Given the description of an element on the screen output the (x, y) to click on. 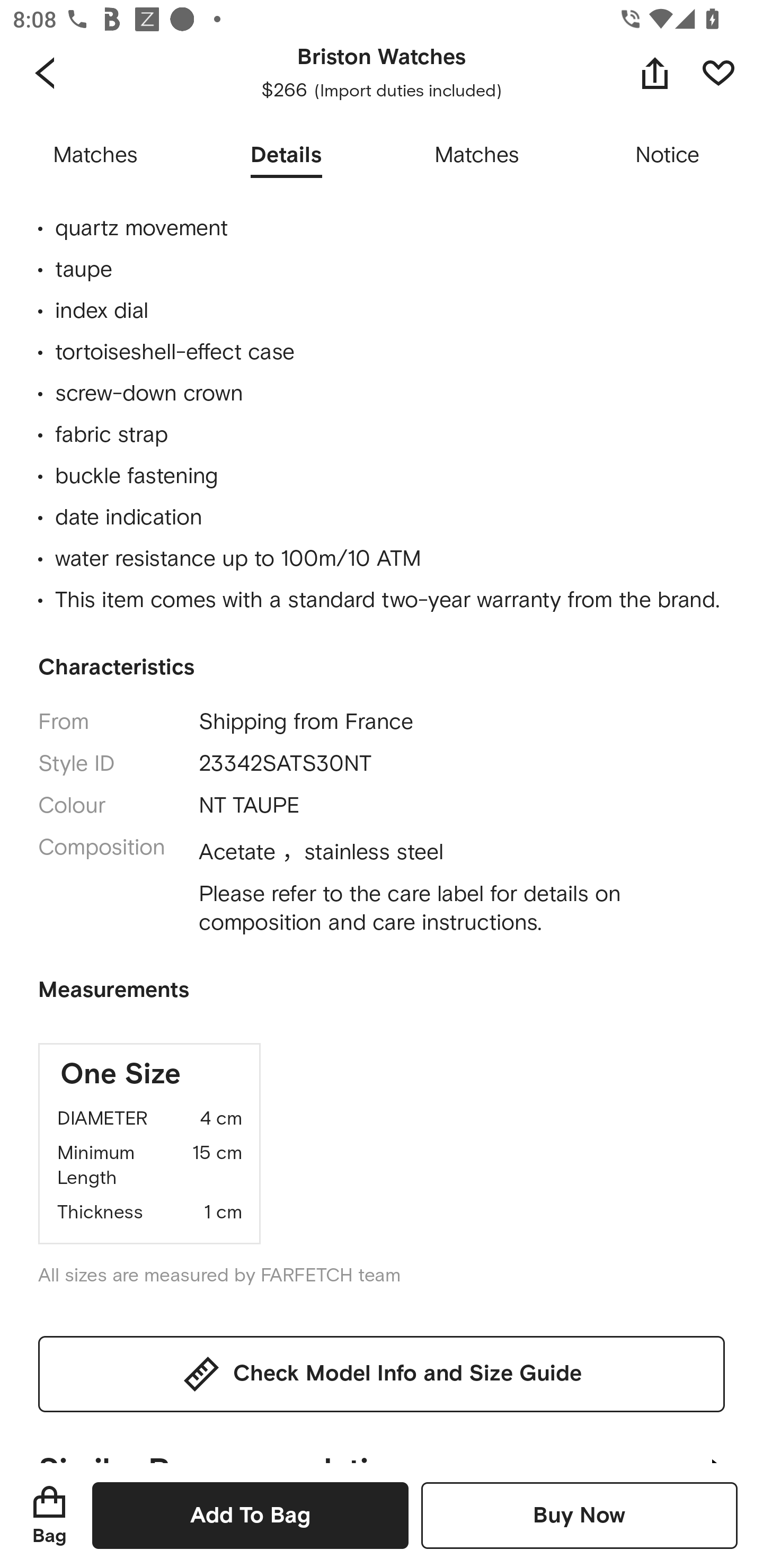
Matches (95, 155)
Matches (476, 155)
Notice (667, 155)
 Check Model Info and Size Guide (381, 1373)
Bag (49, 1515)
Add To Bag (250, 1515)
Buy Now (579, 1515)
